Given the description of an element on the screen output the (x, y) to click on. 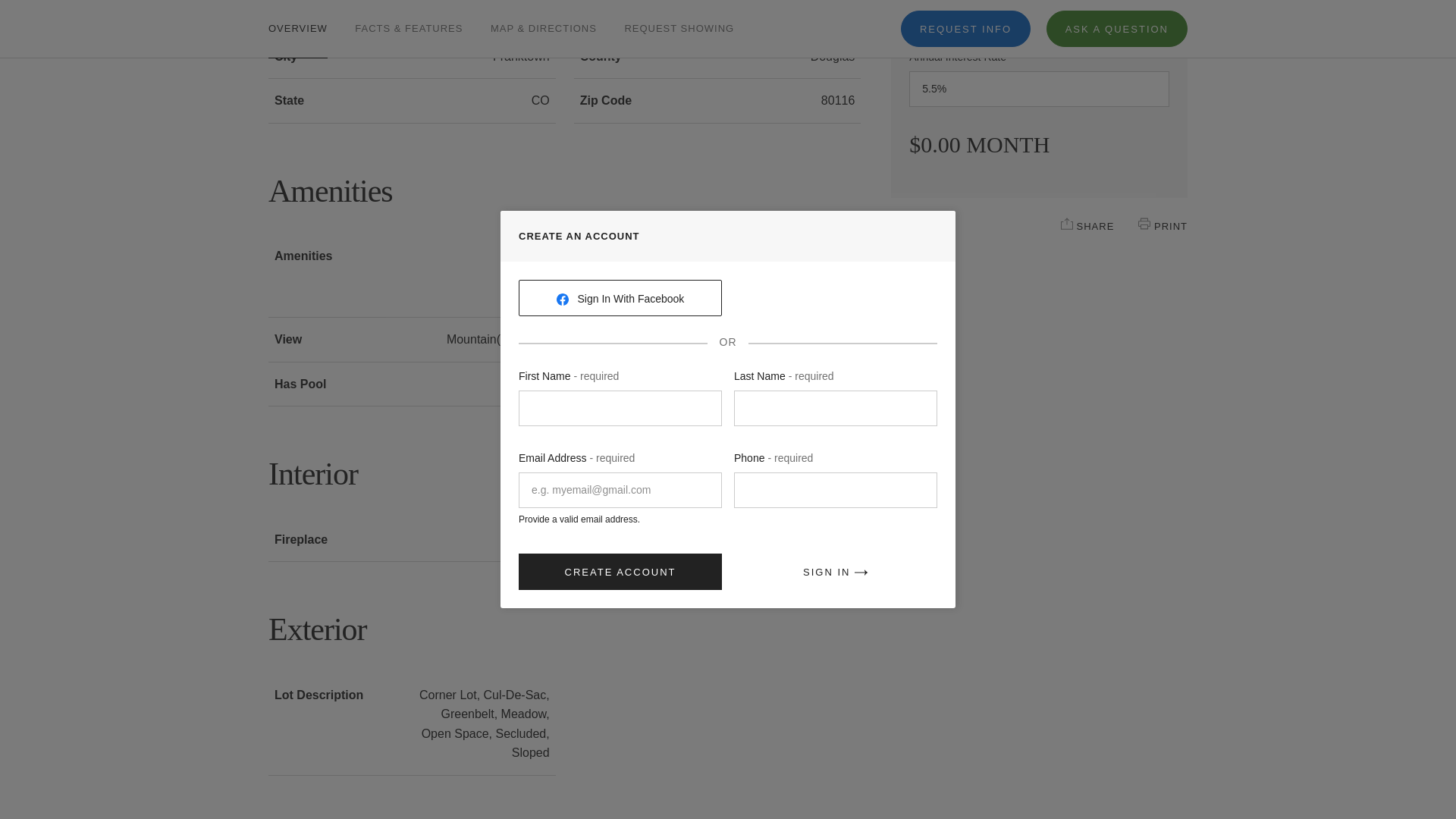
PRINT (1144, 223)
SHARE (1067, 223)
